Given the description of an element on the screen output the (x, y) to click on. 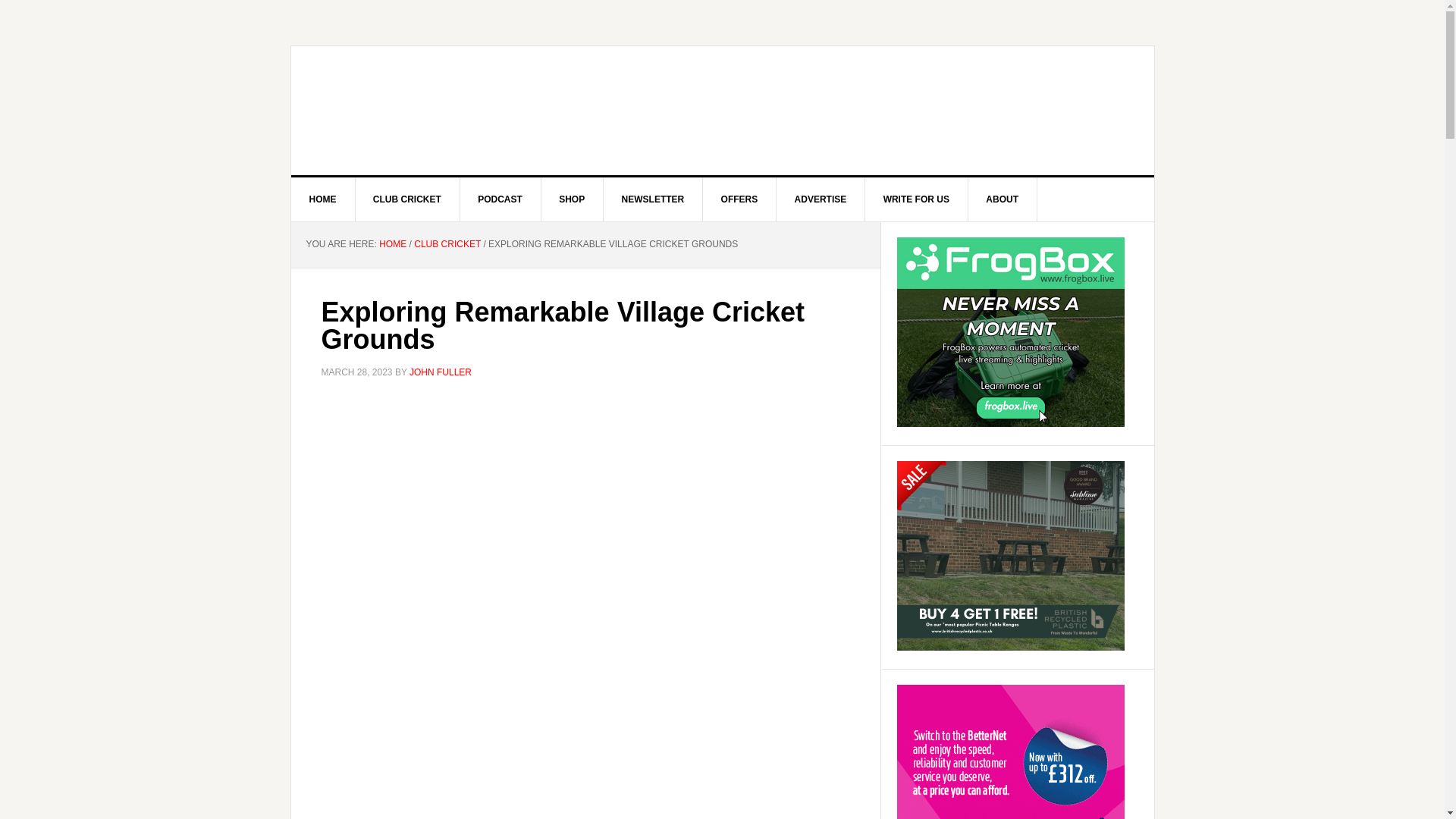
SHOP (572, 199)
CLUB CRICKET (446, 244)
PODCAST (500, 199)
ADVERTISE (821, 199)
HOME (392, 244)
JOHN FULLER (440, 371)
CRICKET YORKSHIRE (722, 110)
HOME (323, 199)
ABOUT (1002, 199)
CLUB CRICKET (407, 199)
